Given the description of an element on the screen output the (x, y) to click on. 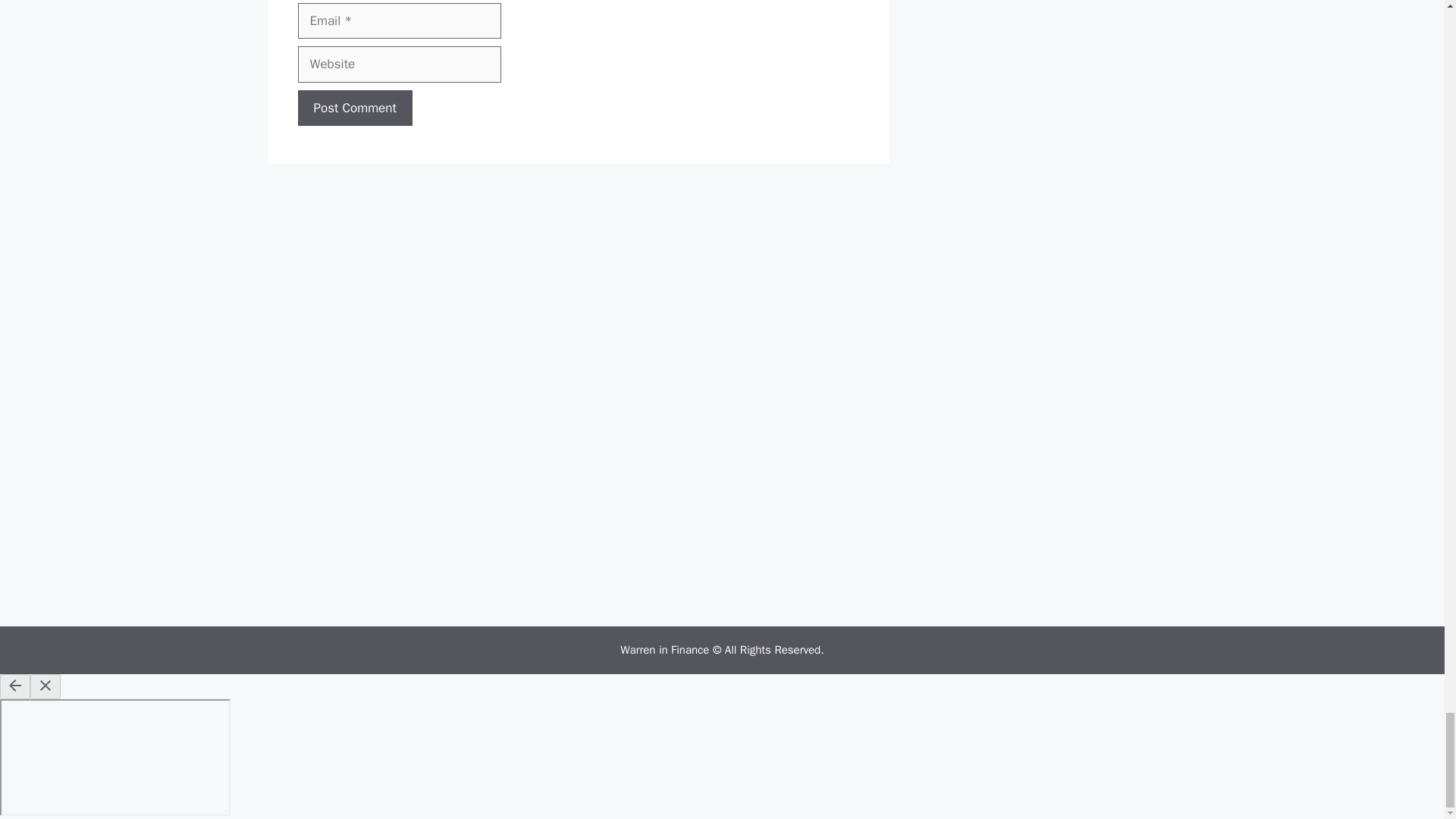
Post Comment (354, 108)
Post Comment (354, 108)
